Given the description of an element on the screen output the (x, y) to click on. 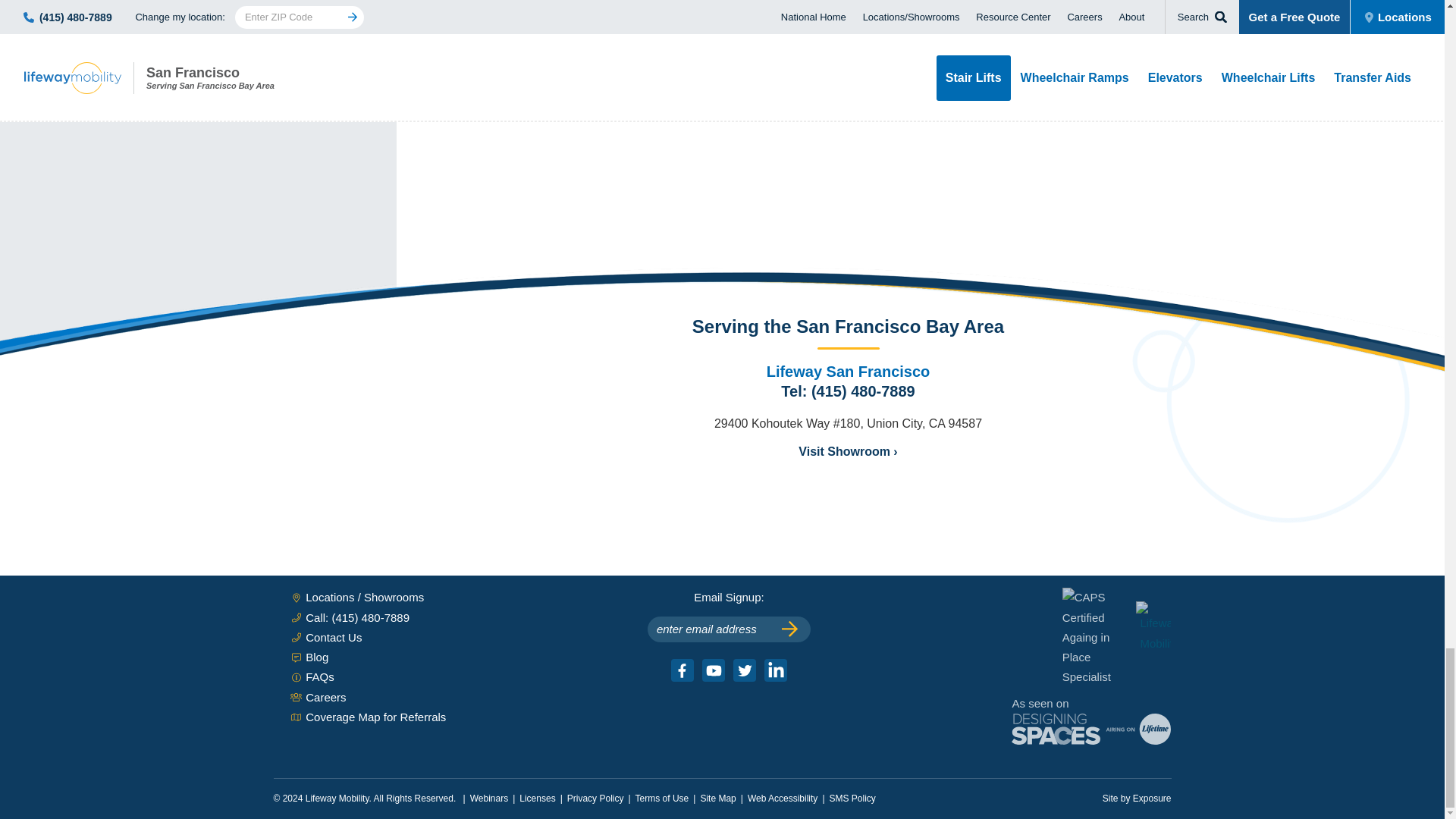
Like Us on Facebook (682, 670)
